Given the description of an element on the screen output the (x, y) to click on. 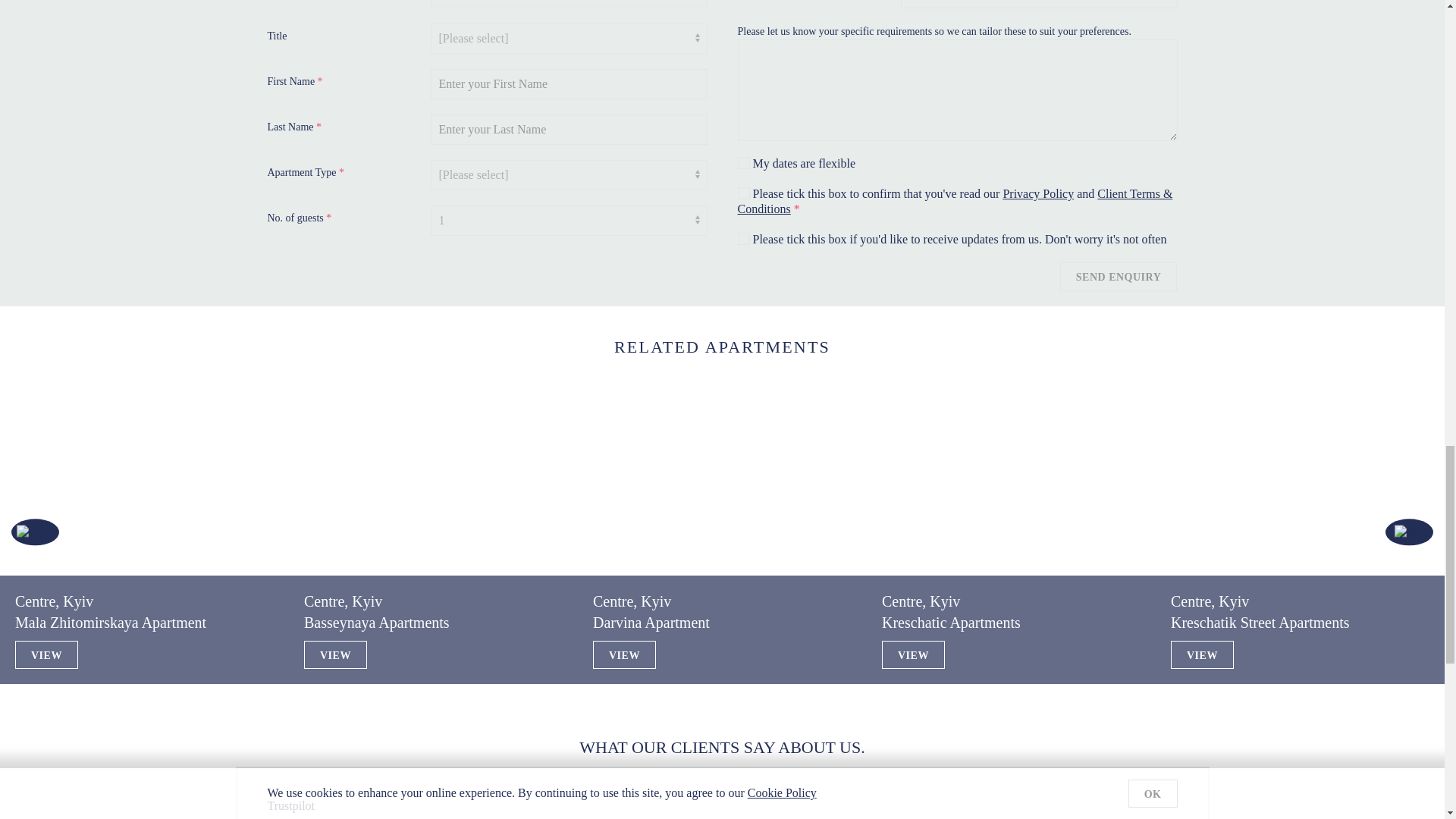
Send Enquiry (1117, 276)
1 (742, 238)
1 (742, 193)
1 (742, 162)
